Given the description of an element on the screen output the (x, y) to click on. 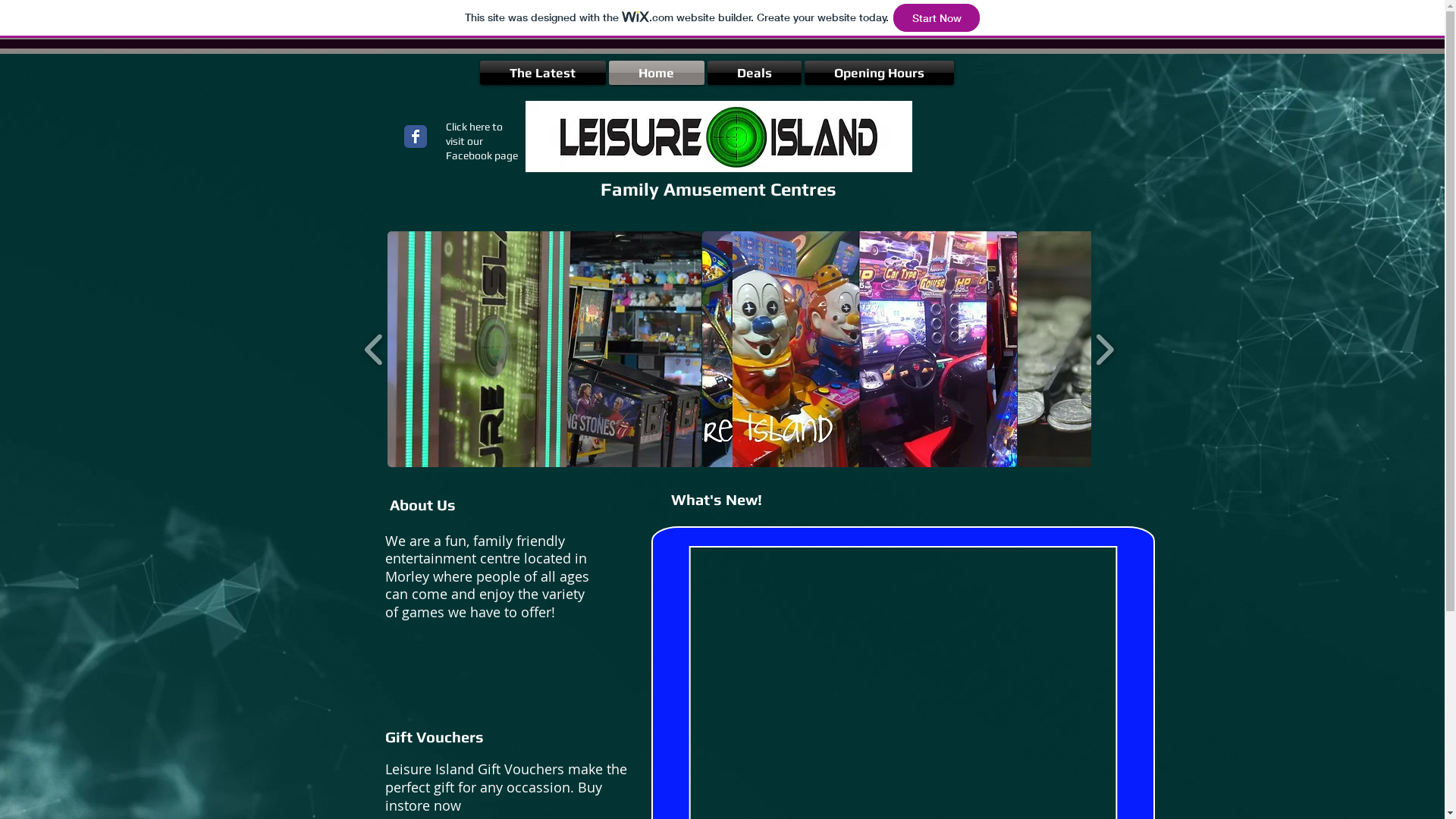
Deals Element type: text (753, 72)
Leisure Island logo Element type: hover (717, 136)
The Latest Element type: text (542, 72)
Opening Hours Element type: text (877, 72)
Home Element type: text (655, 72)
